Given the description of an element on the screen output the (x, y) to click on. 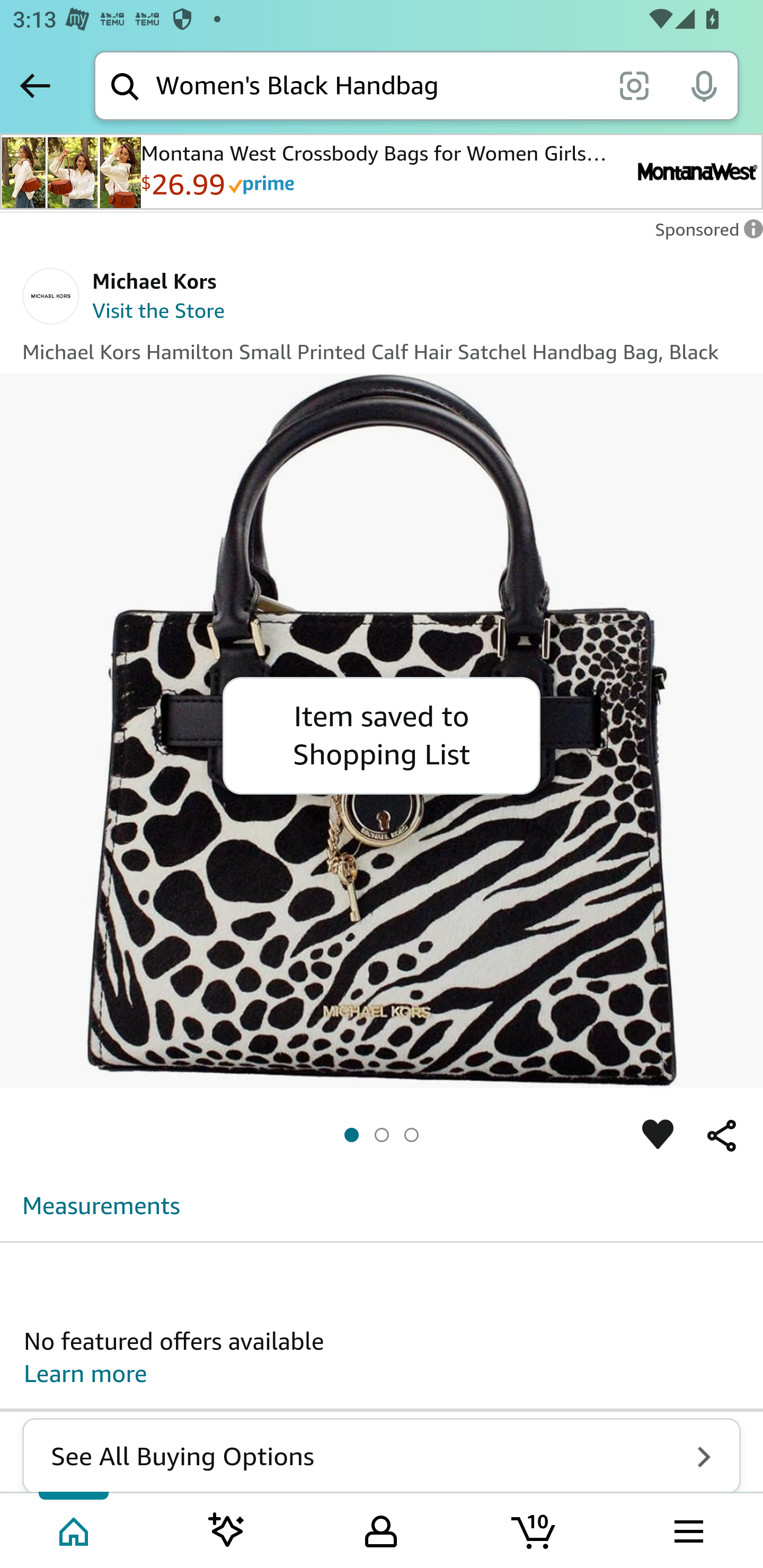
Back (35, 85)
scan it (633, 85)
Leave feedback on Sponsored ad Sponsored  (703, 234)
Visit the Store, Michael Kors (159, 312)
Heart filled, item saved to list (657, 1135)
Measurements (101, 1204)
Learn more (85, 1374)
See All Buying Options (381, 1455)
Home Tab 1 of 5 (75, 1529)
Inspire feed Tab 2 of 5 (227, 1529)
Your Amazon.com Tab 3 of 5 (380, 1529)
Cart 10 items Tab 4 of 5 10 (534, 1529)
Browse menu Tab 5 of 5 (687, 1529)
